Given the description of an element on the screen output the (x, y) to click on. 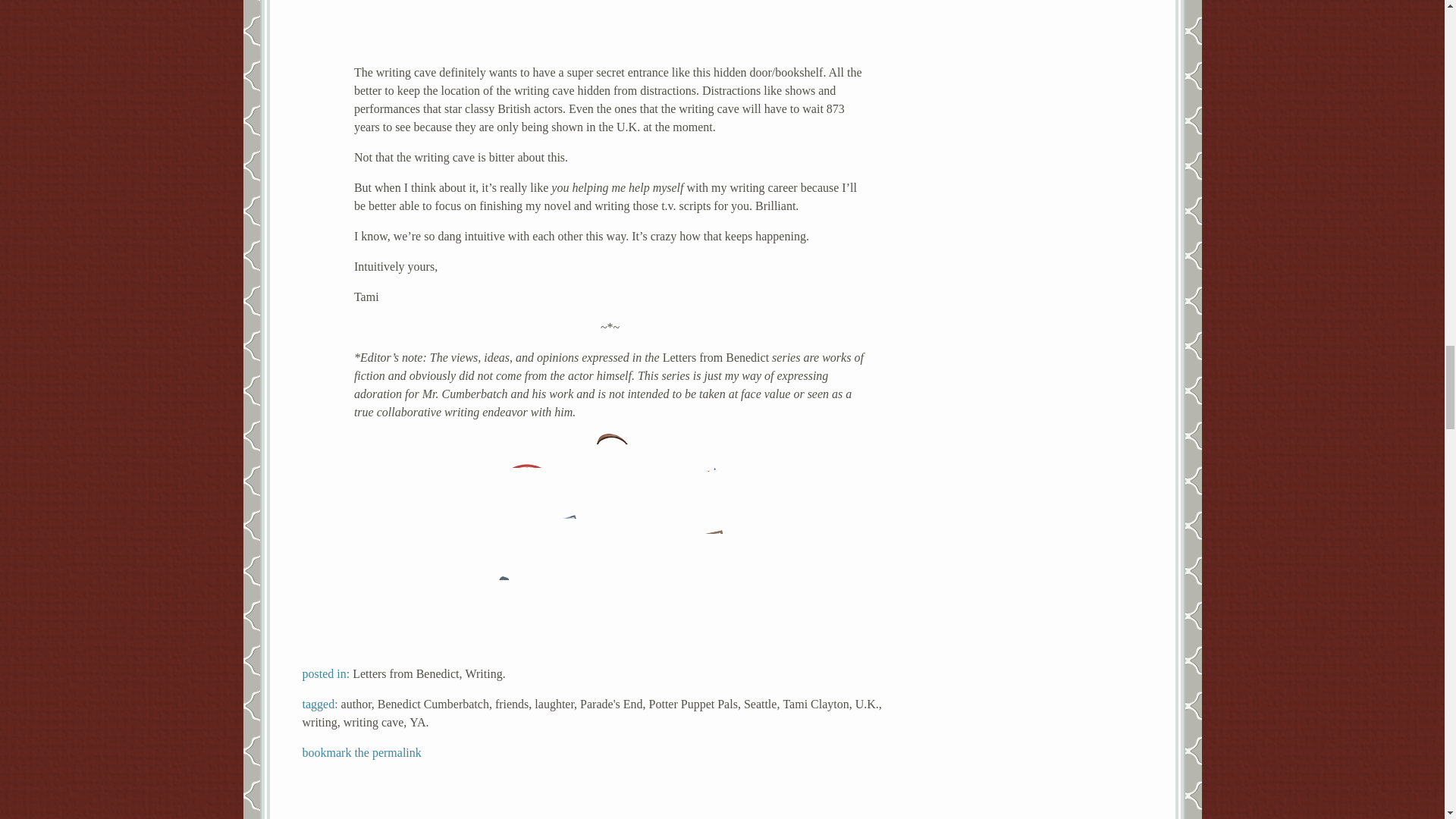
Parade's End (610, 703)
Click to share on Tumblr (547, 601)
U.K. (867, 703)
YA (417, 721)
writing (318, 721)
Click to share on Facebook (558, 546)
laughter (553, 703)
Tami Clayton (815, 703)
Benedict Cumberbatch (433, 703)
writing cave (373, 721)
